Given the description of an element on the screen output the (x, y) to click on. 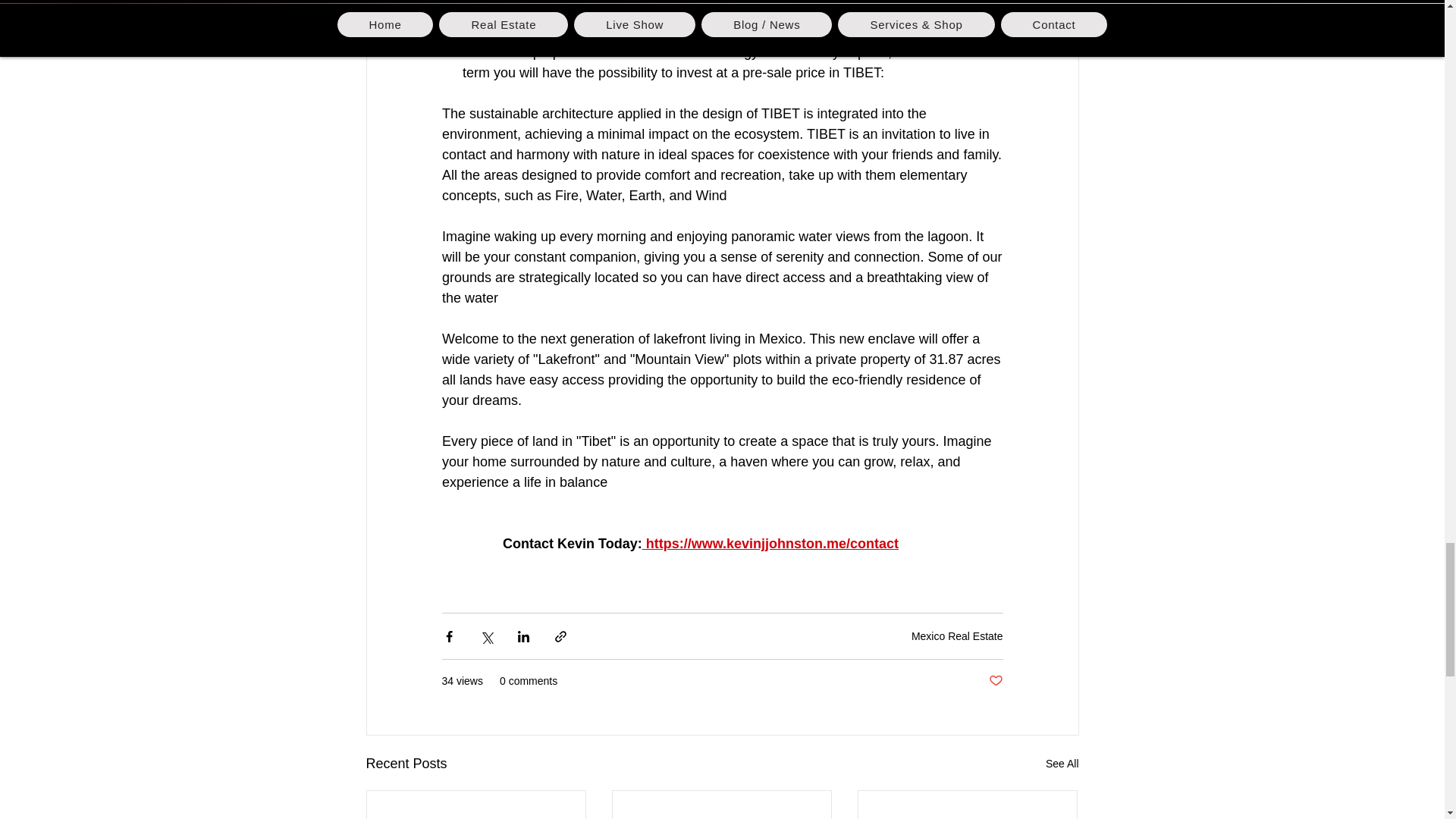
See All (1061, 763)
Post not marked as liked (995, 681)
Mexico Real Estate (957, 635)
